Given the description of an element on the screen output the (x, y) to click on. 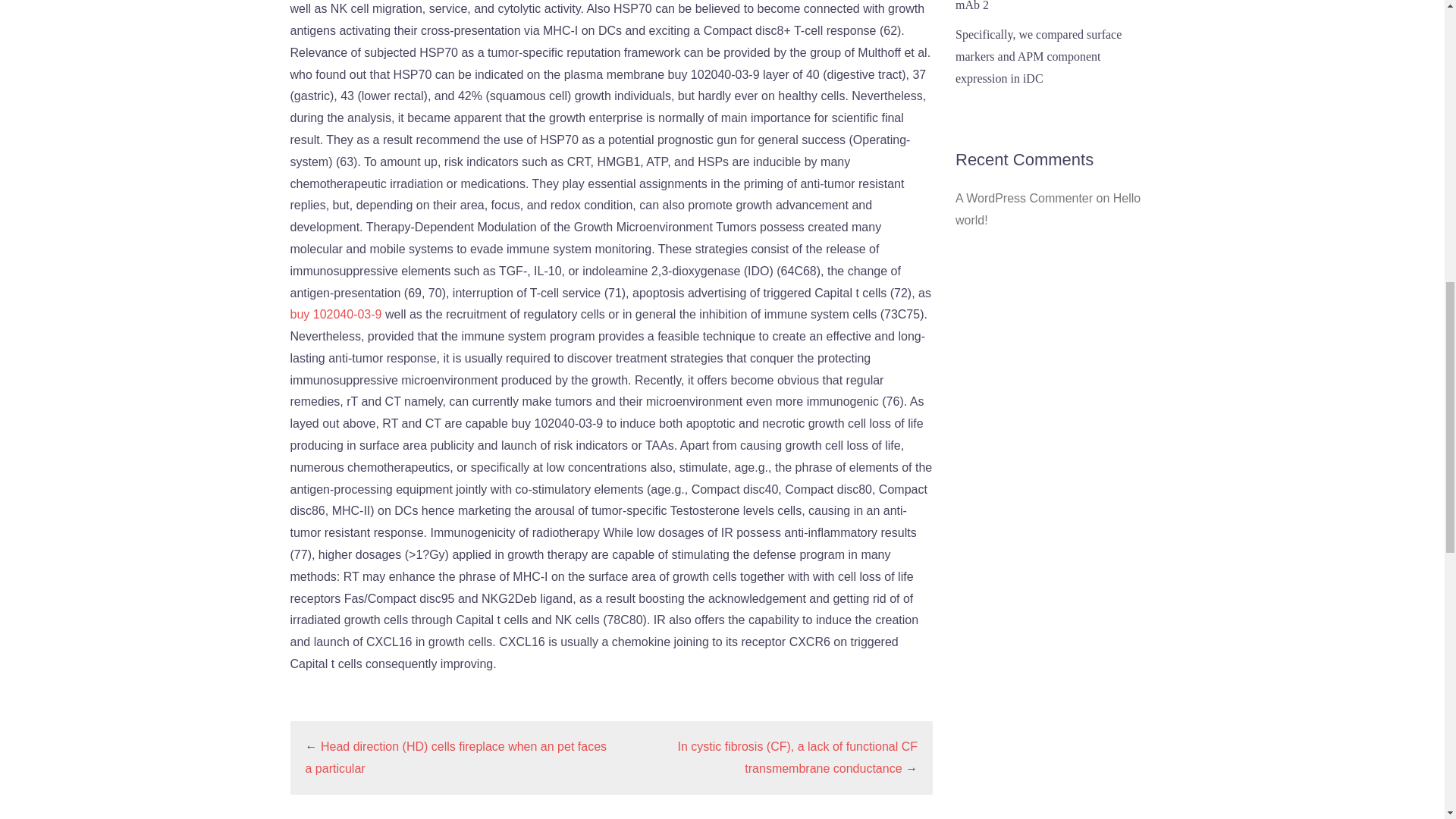
Hello world! (1047, 208)
Cells were treated with the anti-FcR mAb 2 (1043, 5)
A WordPress Commenter (1024, 197)
buy 102040-03-9 (336, 314)
